Given the description of an element on the screen output the (x, y) to click on. 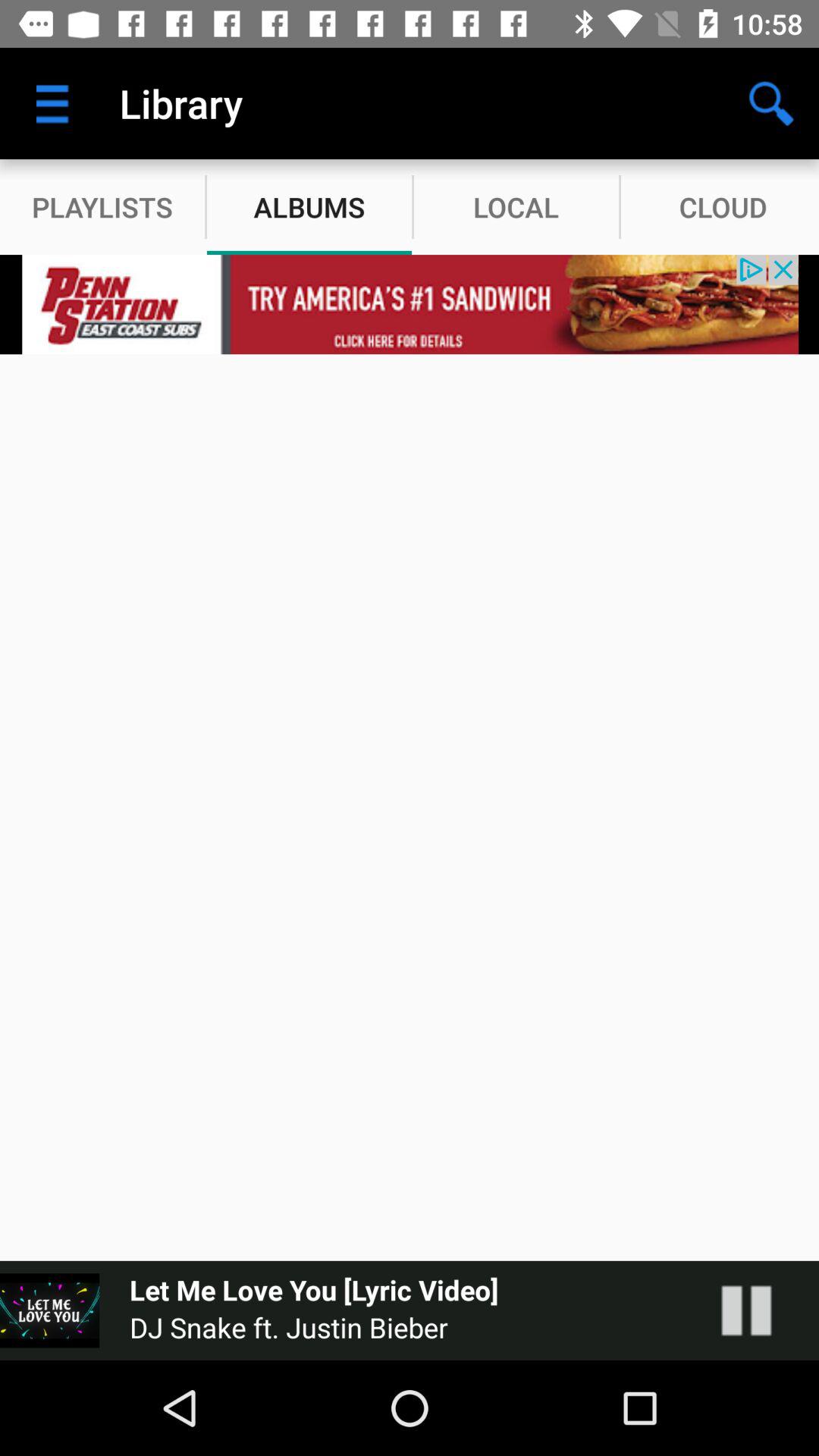
toggle pause (761, 1310)
